Given the description of an element on the screen output the (x, y) to click on. 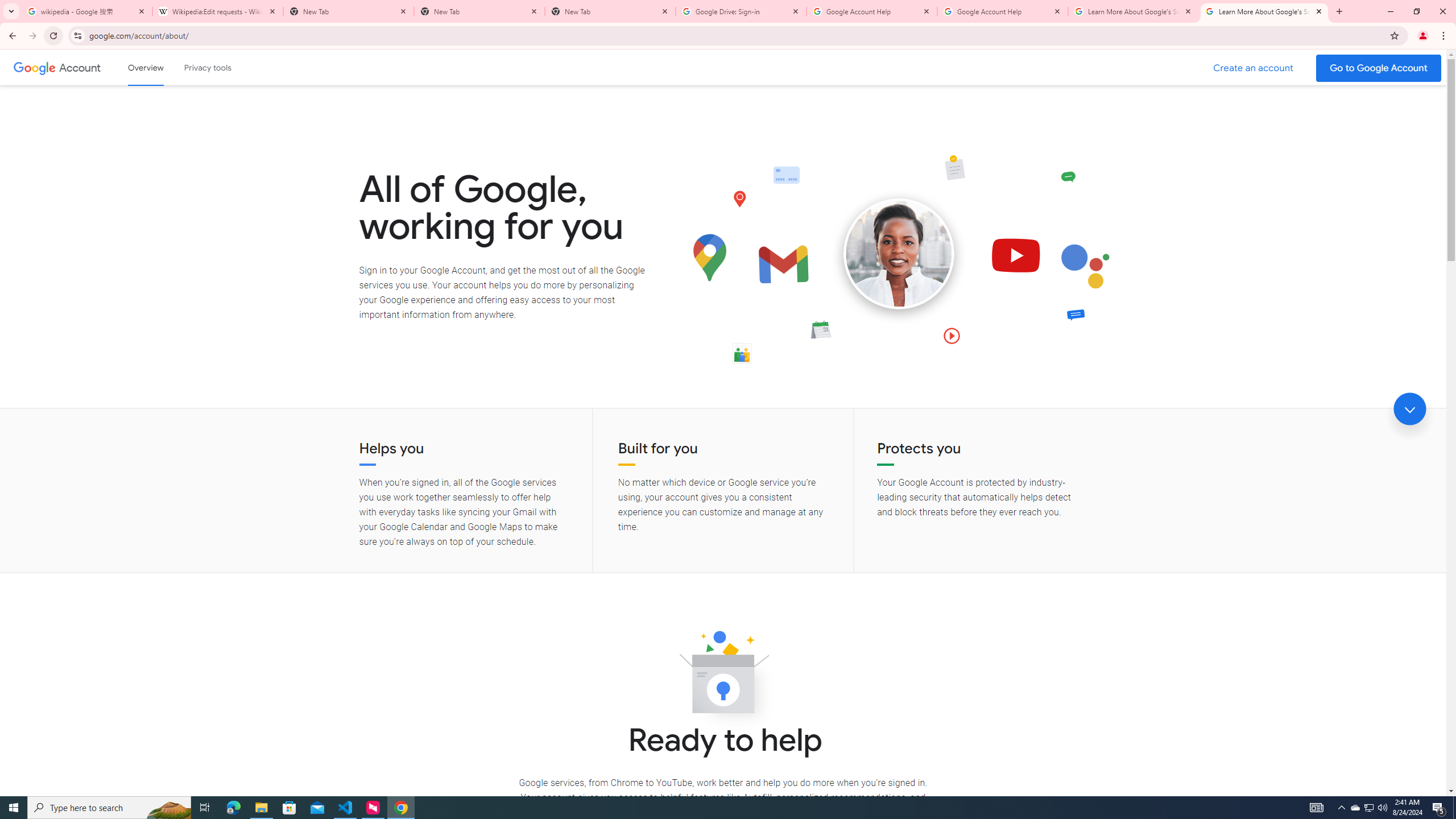
New Tab (610, 11)
Wikipedia:Edit requests - Wikipedia (217, 11)
Google Account overview (145, 67)
Google Drive: Sign-in (740, 11)
Jump link (1409, 408)
Go to your Google Account (1378, 67)
